Given the description of an element on the screen output the (x, y) to click on. 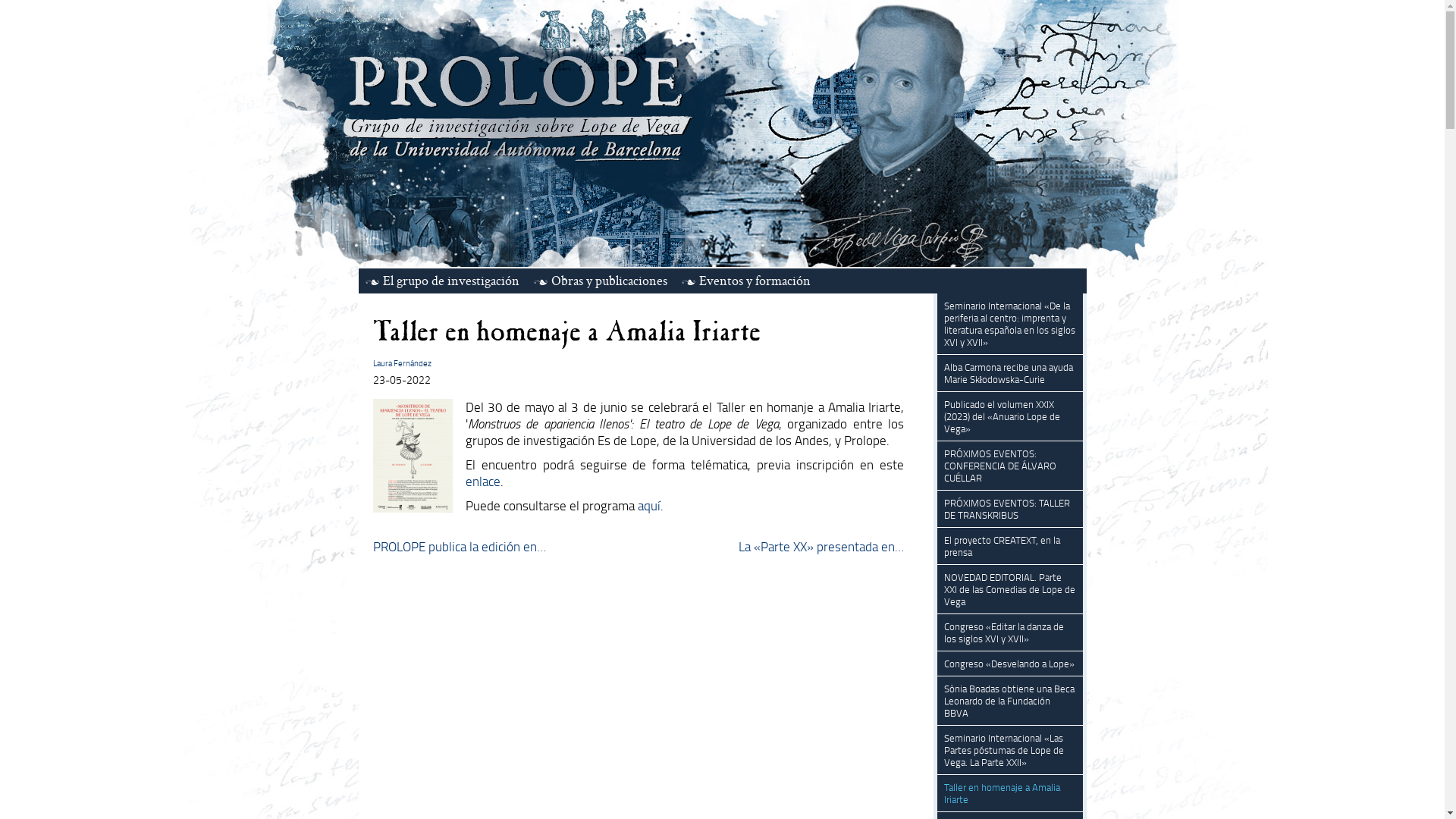
Obras y publicaciones Element type: text (600, 281)
NOVEDAD EDITORIAL. Parte XXI de las Comedias de Lope de Vega Element type: text (1008, 589)
El proyecto CREATEXT, en la prensa Element type: text (1001, 545)
enlace Element type: text (482, 480)
Prolope Element type: hover (722, 133)
Taller en homenaje a Amalia Iriarte Element type: text (1001, 793)
